Given the description of an element on the screen output the (x, y) to click on. 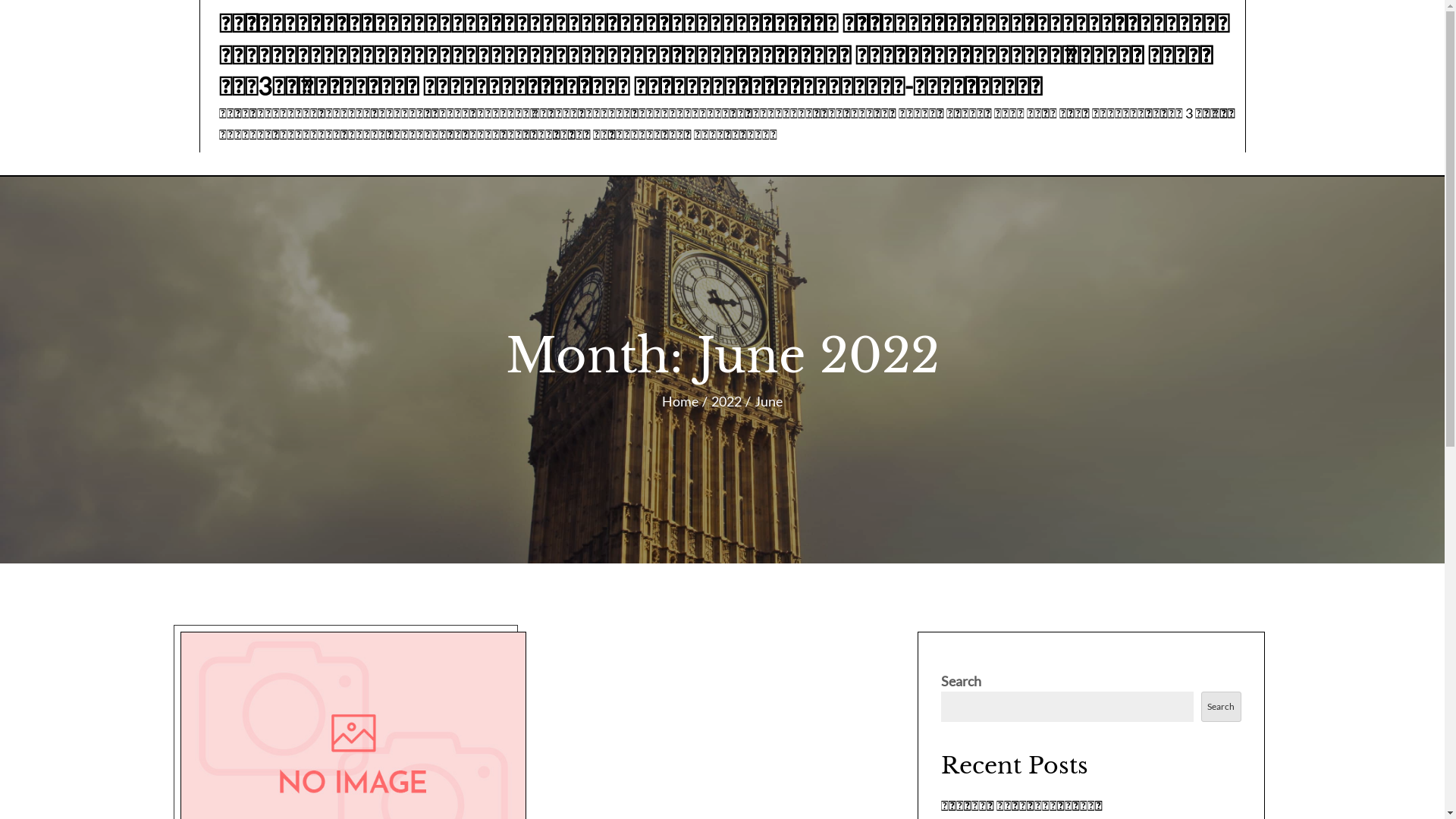
Home Element type: text (680, 400)
2022 Element type: text (726, 400)
Search Element type: text (1221, 706)
